Given the description of an element on the screen output the (x, y) to click on. 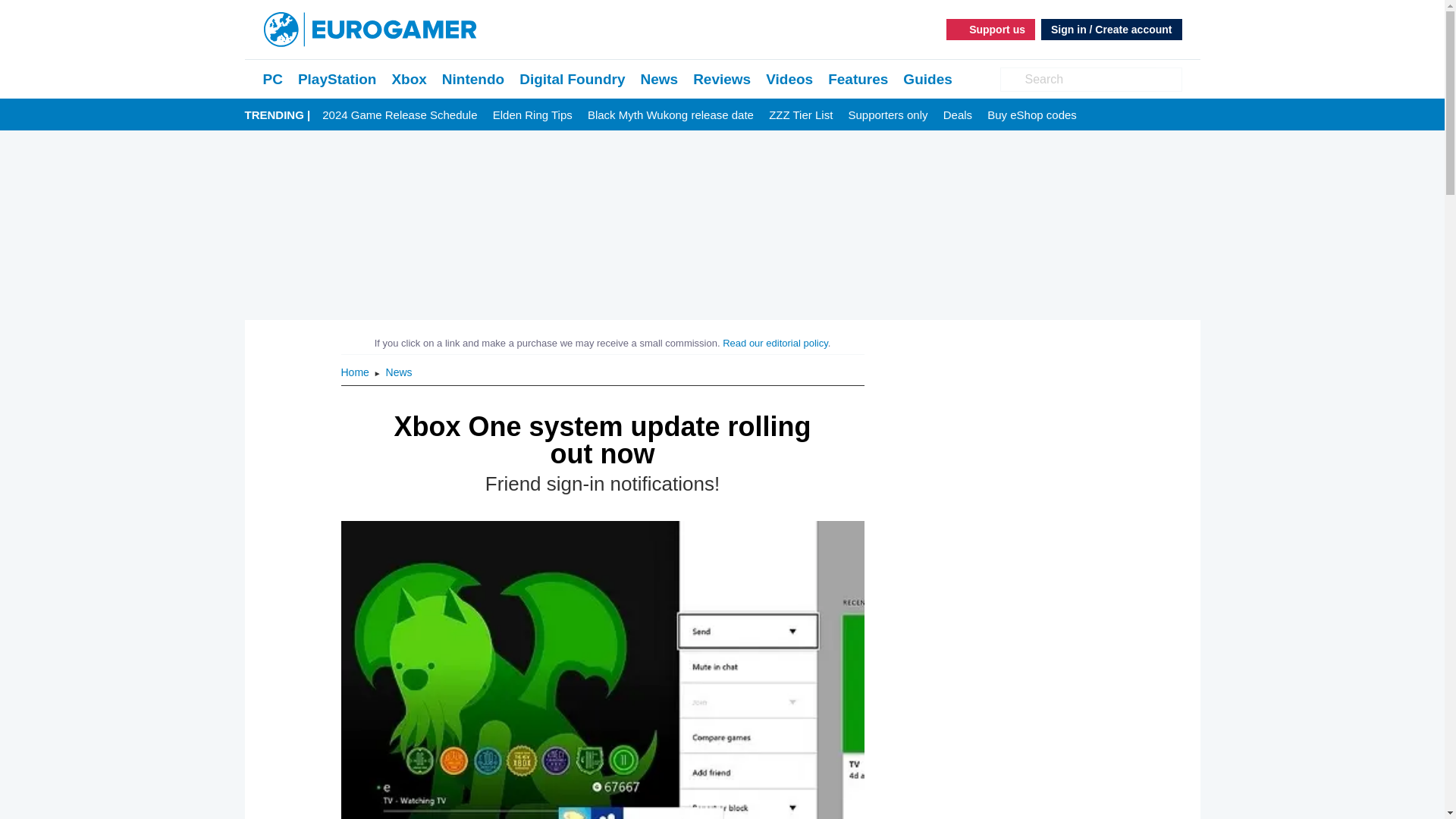
2024 Game Release Schedule (399, 114)
News (659, 78)
Black Myth Wukong release date (671, 114)
Elden Ring Tips (532, 114)
Black Myth Wukong release date (671, 114)
Reviews (722, 78)
Xbox (408, 78)
Support us (990, 29)
Deals (957, 114)
Videos (788, 78)
